Given the description of an element on the screen output the (x, y) to click on. 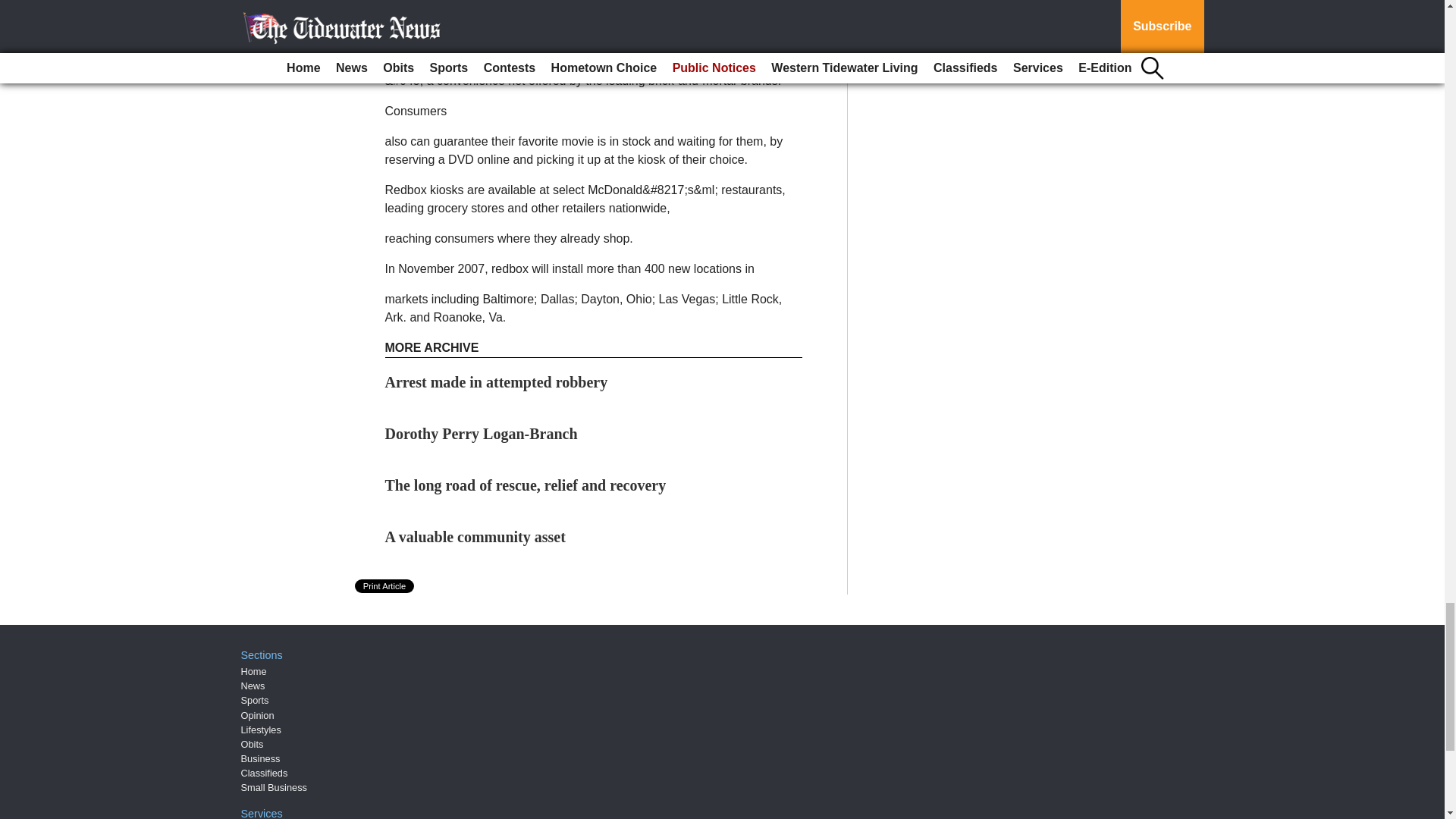
Print Article (384, 585)
A valuable community asset (475, 536)
Arrest made in attempted robbery (496, 381)
A valuable community asset (475, 536)
Dorothy Perry Logan-Branch (481, 433)
Arrest made in attempted robbery (496, 381)
The long road of rescue, relief and recovery (525, 484)
The long road of rescue, relief and recovery (525, 484)
Dorothy Perry Logan-Branch (481, 433)
